Given the description of an element on the screen output the (x, y) to click on. 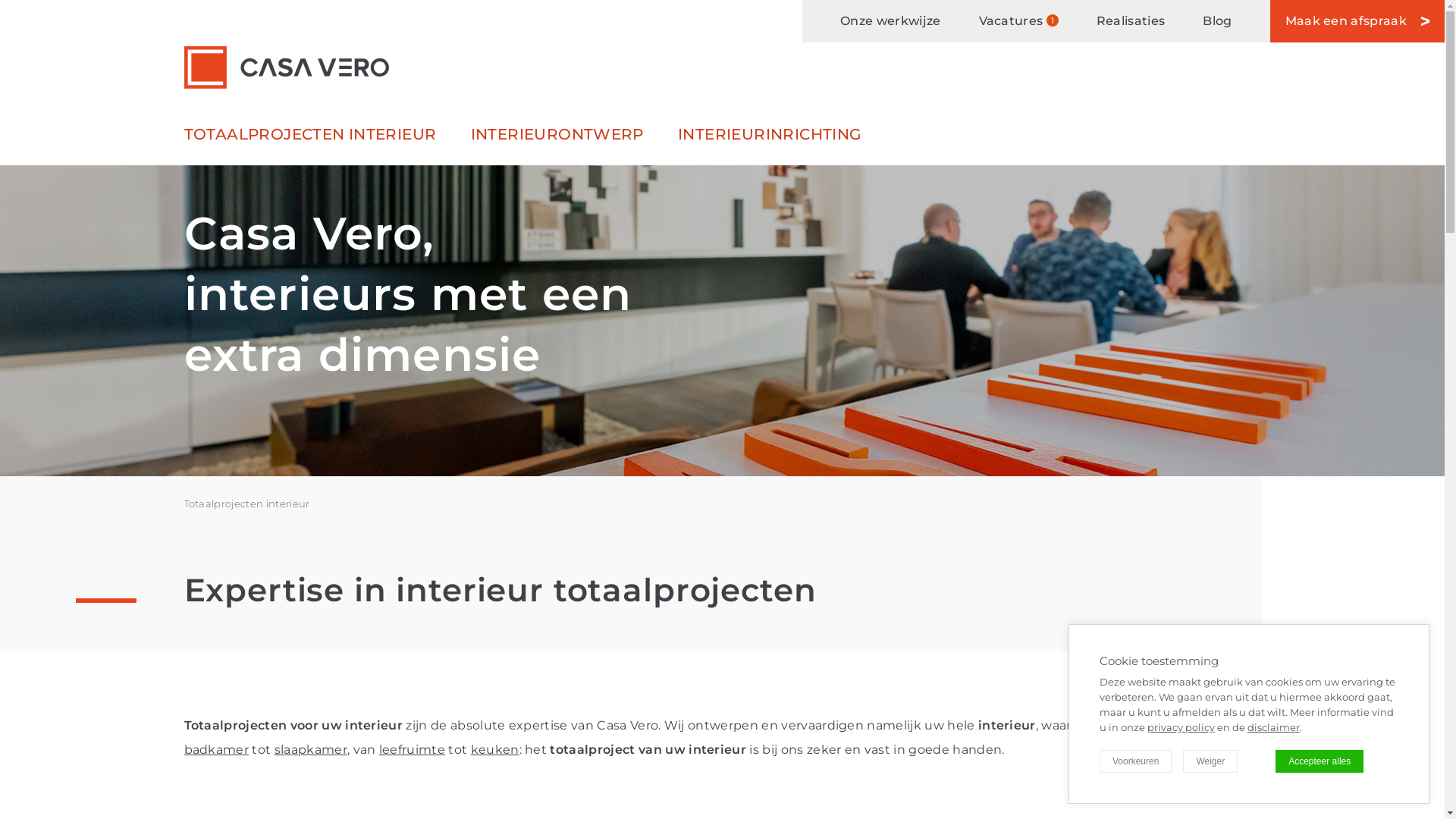
Accepteer alles Element type: text (1319, 760)
Realisaties Element type: text (1130, 21)
Vacatures 1 Element type: text (1018, 21)
badkamer Element type: text (215, 749)
TOTAALPROJECTEN INTERIEUR Element type: text (309, 141)
privacy policy Element type: text (1180, 727)
Voorkeuren Element type: text (1135, 760)
slaapkamer Element type: text (310, 749)
Weiger Element type: text (1210, 760)
leefruimte Element type: text (412, 749)
keuken Element type: text (494, 749)
Maak een afspraak Element type: text (1357, 21)
Totaalprojecten interieur Element type: text (246, 503)
Blog Element type: text (1216, 21)
disclaimer Element type: text (1273, 727)
INTERIEURONTWERP Element type: text (556, 141)
Onze werkwijze Element type: text (890, 21)
INTERIEURINRICHTING Element type: text (769, 141)
